Given the description of an element on the screen output the (x, y) to click on. 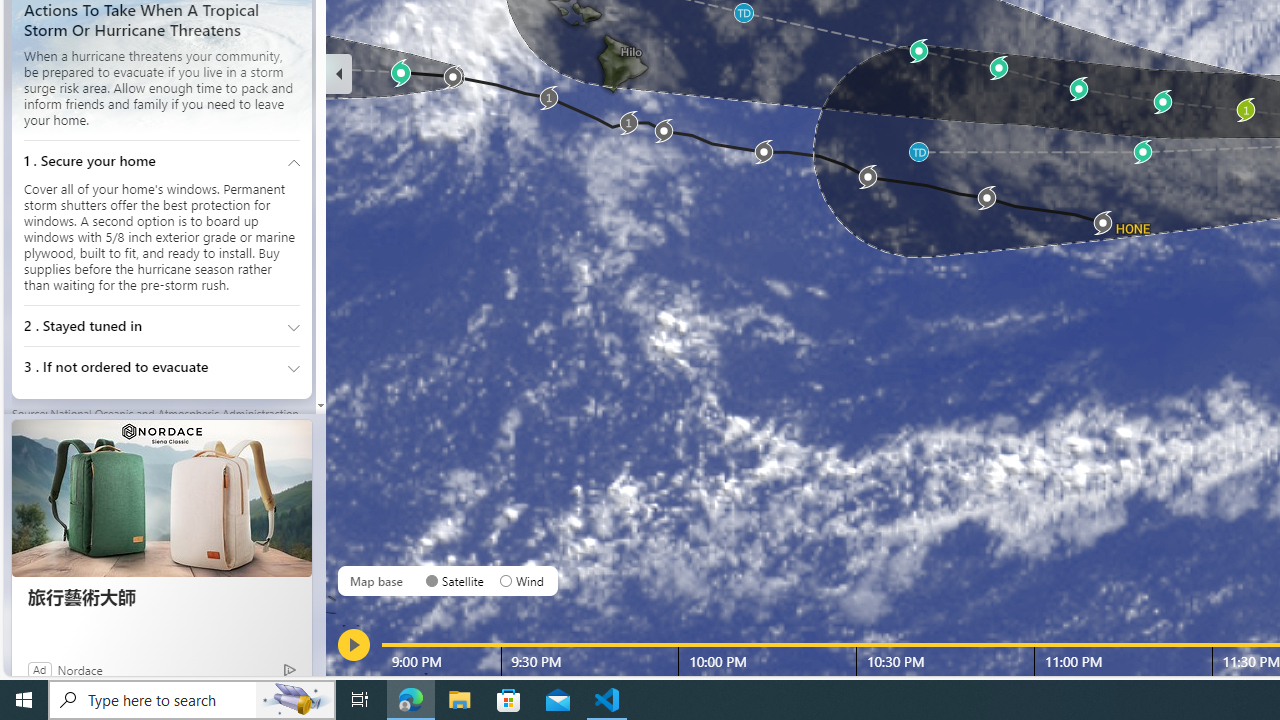
AutomationID: radioButton-DS-EntryPoint1-1-layer-subtype-0-1 (505, 580)
Hide (339, 73)
AutomationID: radioButton-DS-EntryPoint1-1-layer-subtype-0-0 (431, 580)
